Given the description of an element on the screen output the (x, y) to click on. 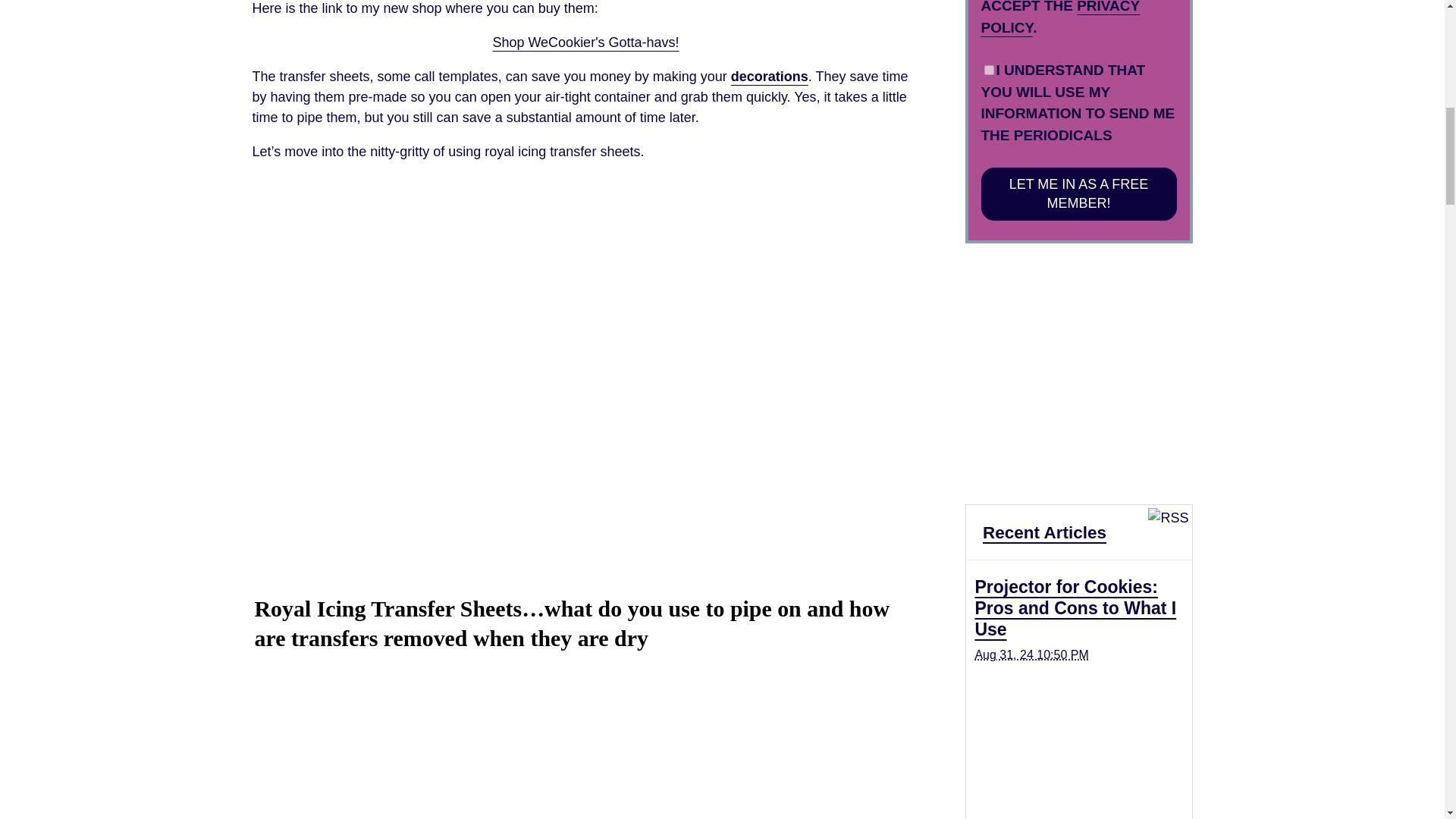
decorations (769, 76)
on (989, 70)
Go to Free Download And Newsletter (1078, 479)
2024-08-31T22:50:39-0400 (1030, 654)
Shop WeCookier's Gotta-havs! (585, 42)
